Given the description of an element on the screen output the (x, y) to click on. 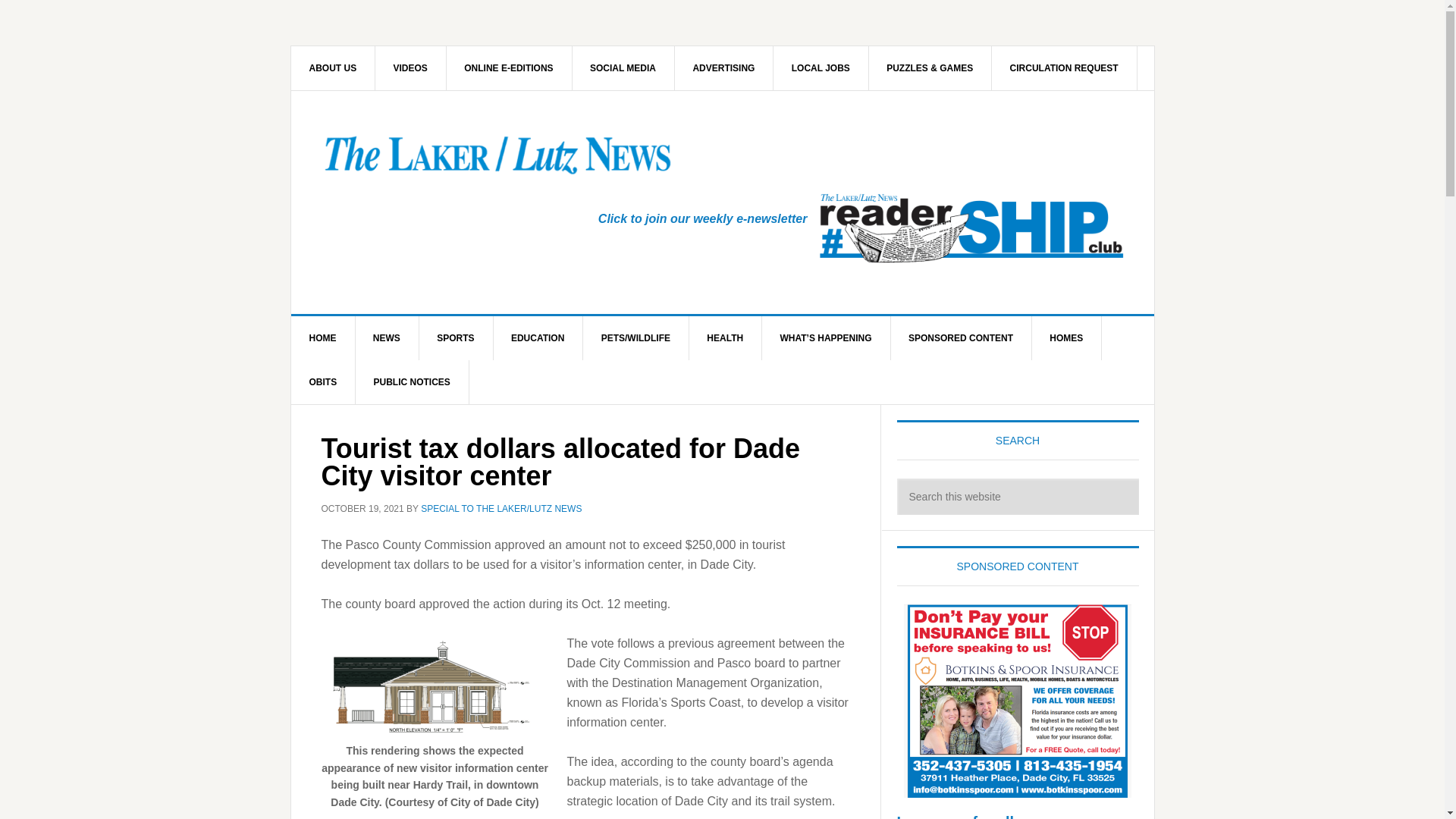
NEWS (387, 338)
ABOUT US (333, 67)
ONLINE E-EDITIONS (508, 67)
CIRCULATION REQUEST (1064, 67)
VIDEOS (410, 67)
LOCAL JOBS (821, 67)
Click to join our weekly e-newsletter (703, 218)
HOME (323, 338)
ADVERTISING (723, 67)
SOCIAL MEDIA (623, 67)
